Given the description of an element on the screen output the (x, y) to click on. 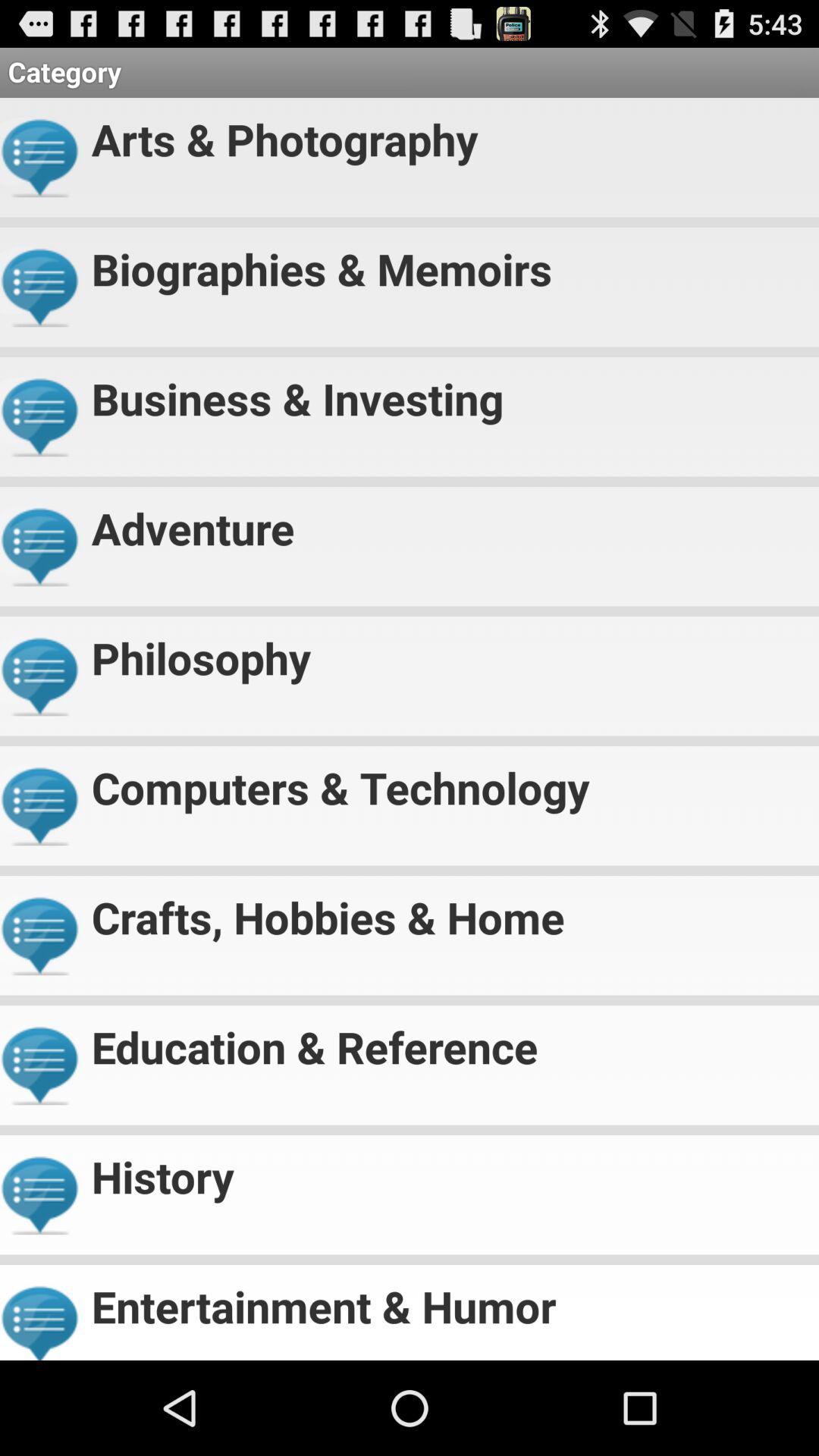
click biographies & memoirs icon (449, 262)
